Given the description of an element on the screen output the (x, y) to click on. 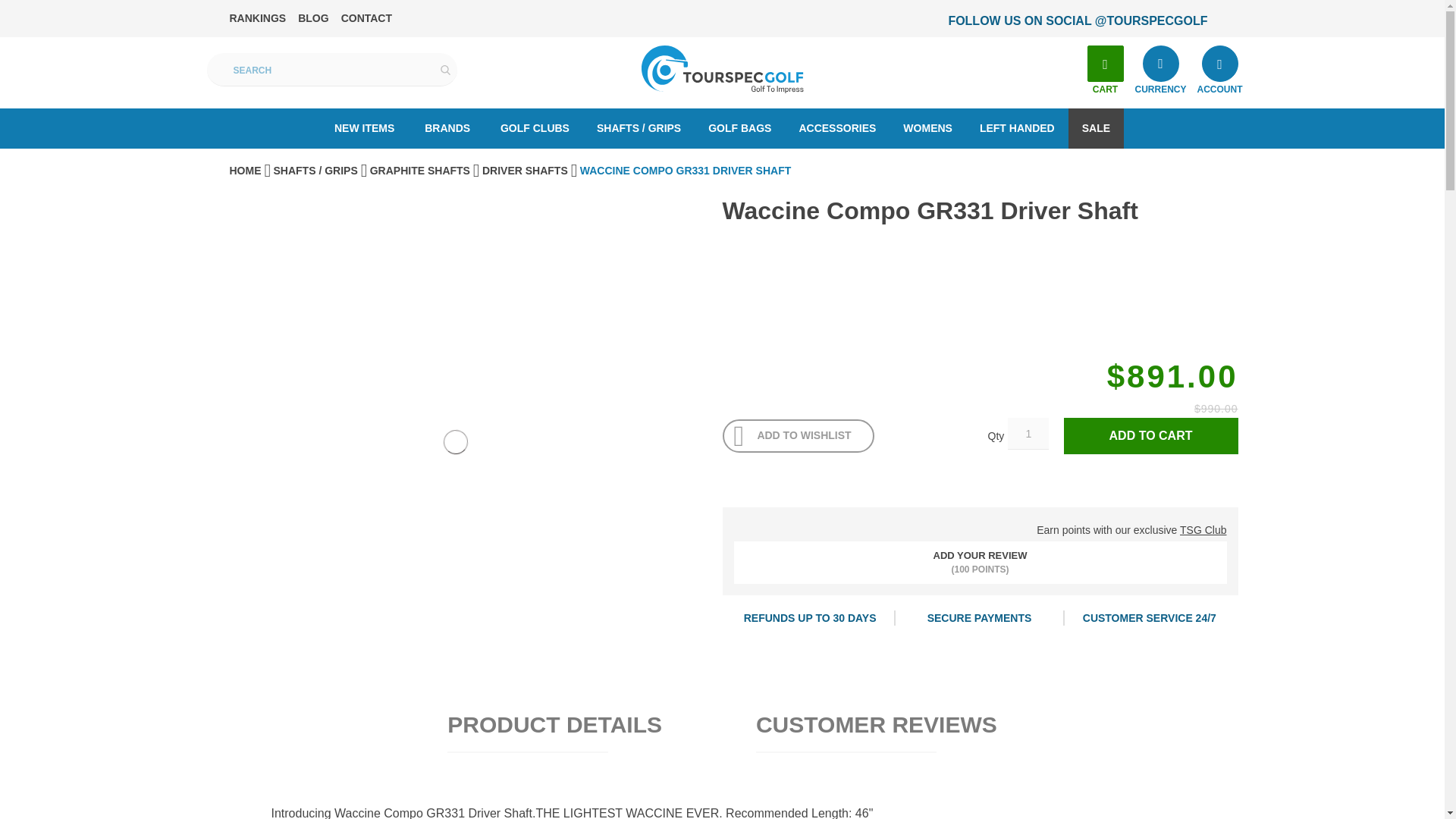
RANKINGS (256, 18)
1 (1027, 433)
WE SHIP WORLDWIDE! (1037, 21)
Tourspecgolf - Golf to Impress (722, 69)
CONTACT (365, 18)
BLOG (313, 18)
My Cart (1105, 63)
NEW ITEMS (363, 128)
BRANDS (446, 128)
